Given the description of an element on the screen output the (x, y) to click on. 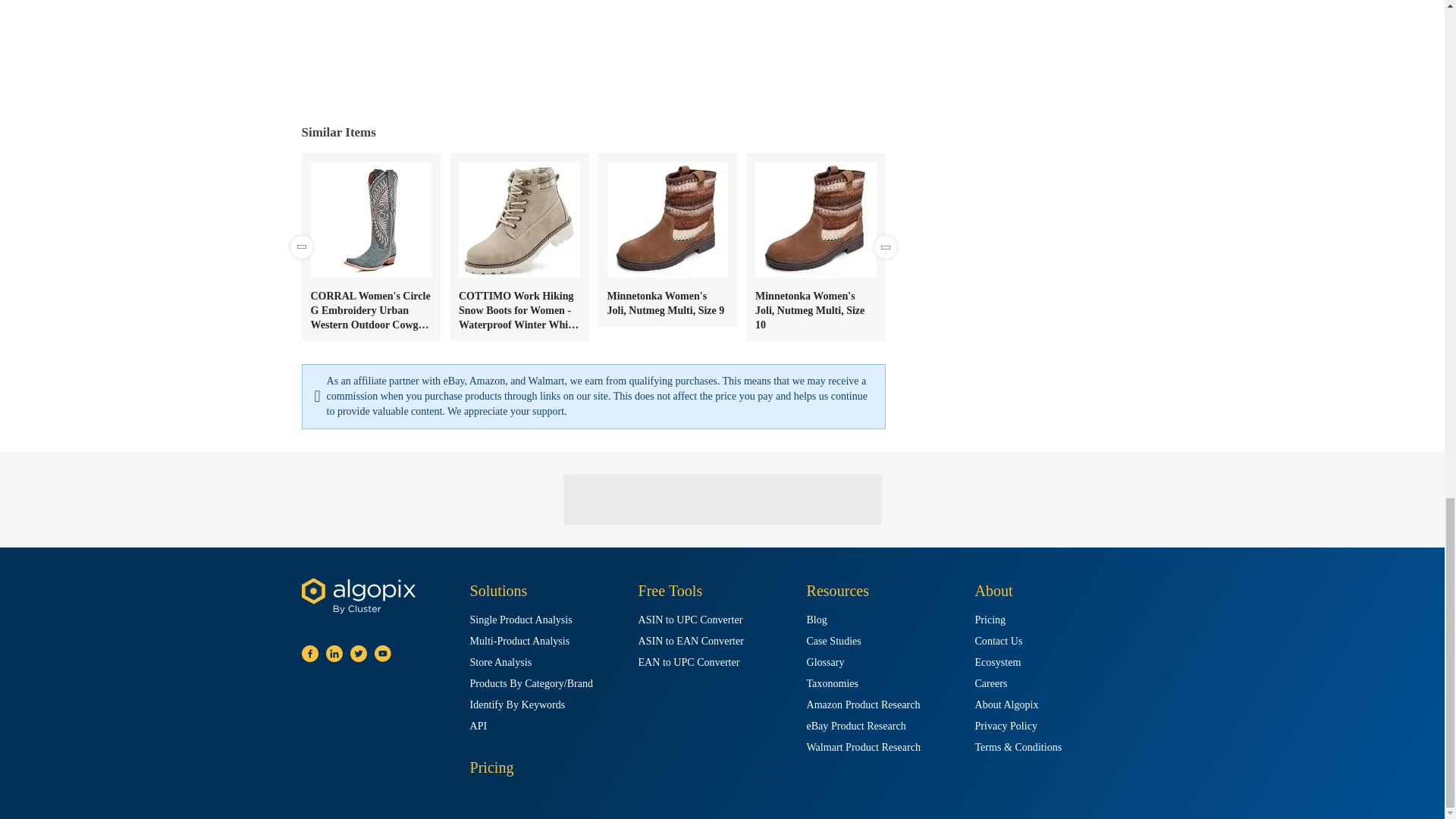
Minnetonka Women's Joli, Nutmeg Multi, Size 10 (815, 247)
Minnetonka Women's Joli, Nutmeg Multi, Size 9 (666, 239)
